Given the description of an element on the screen output the (x, y) to click on. 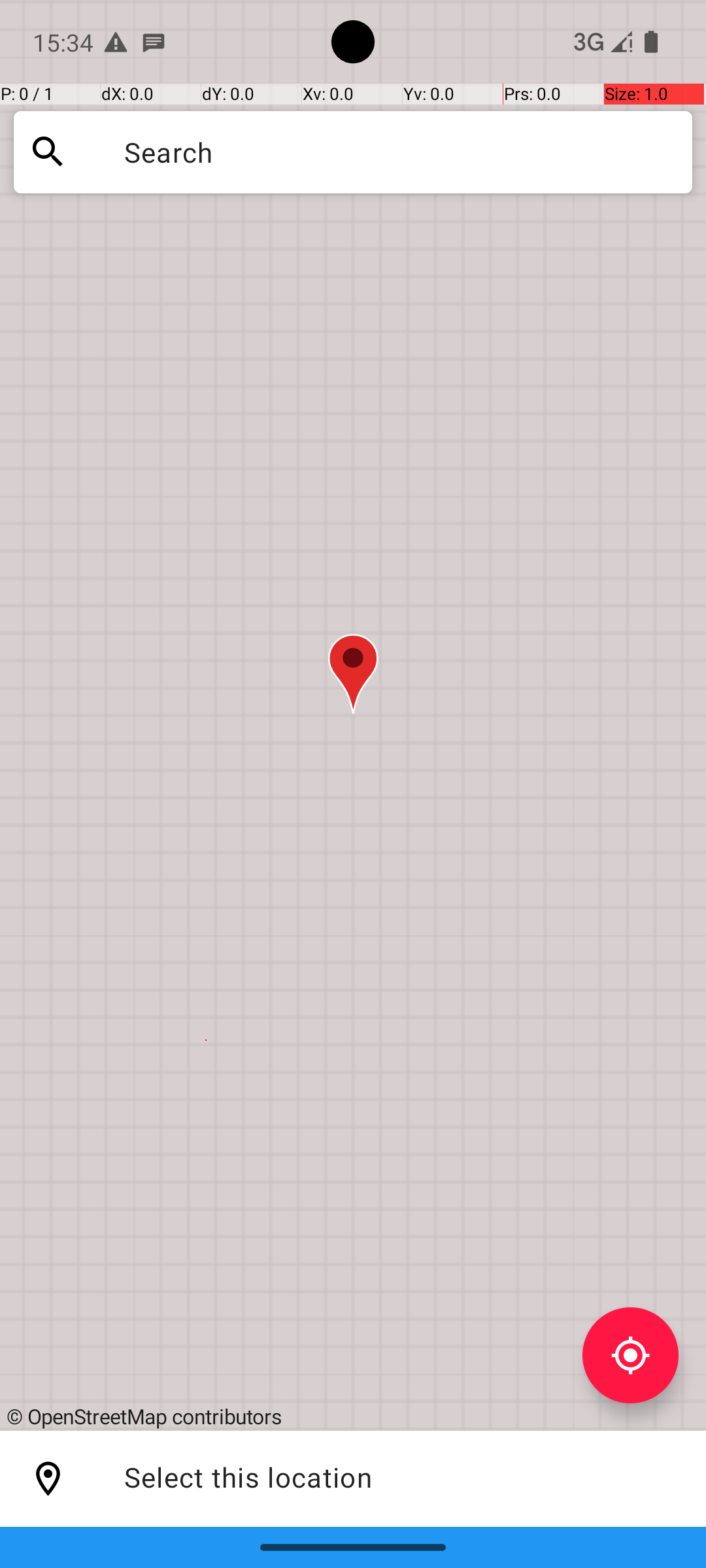
Select this location Element type: android.widget.ImageView (47, 1478)
